Given the description of an element on the screen output the (x, y) to click on. 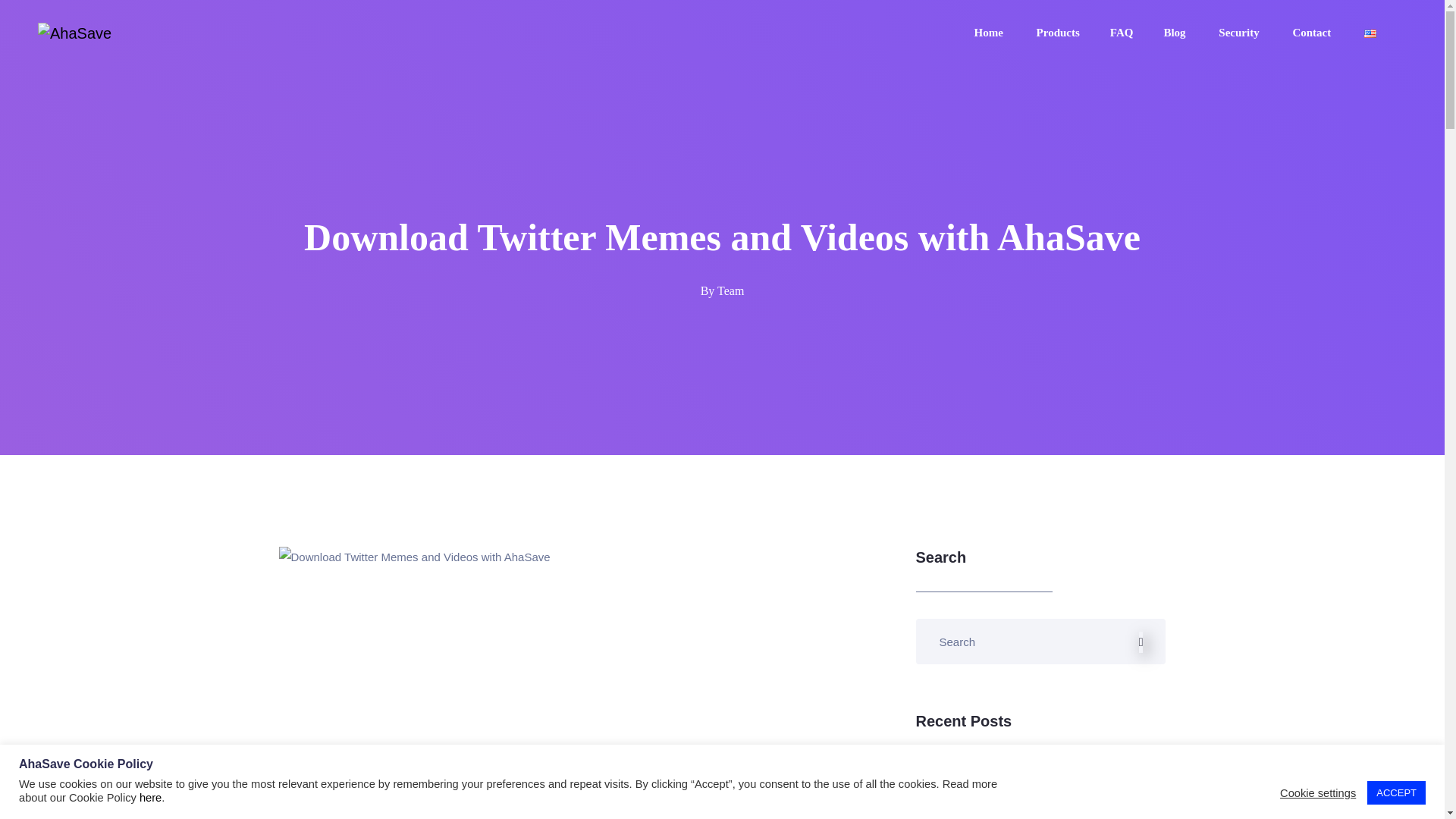
Security  (1240, 32)
Contact  (1312, 32)
Team (730, 290)
FAQ (1121, 32)
Contact (1312, 32)
Products (1058, 32)
Products (1058, 32)
Blog  (1175, 32)
Home (990, 32)
Blog (1175, 32)
English (1369, 32)
FAQ (1121, 32)
Security (1240, 32)
Home  (990, 32)
